Given the description of an element on the screen output the (x, y) to click on. 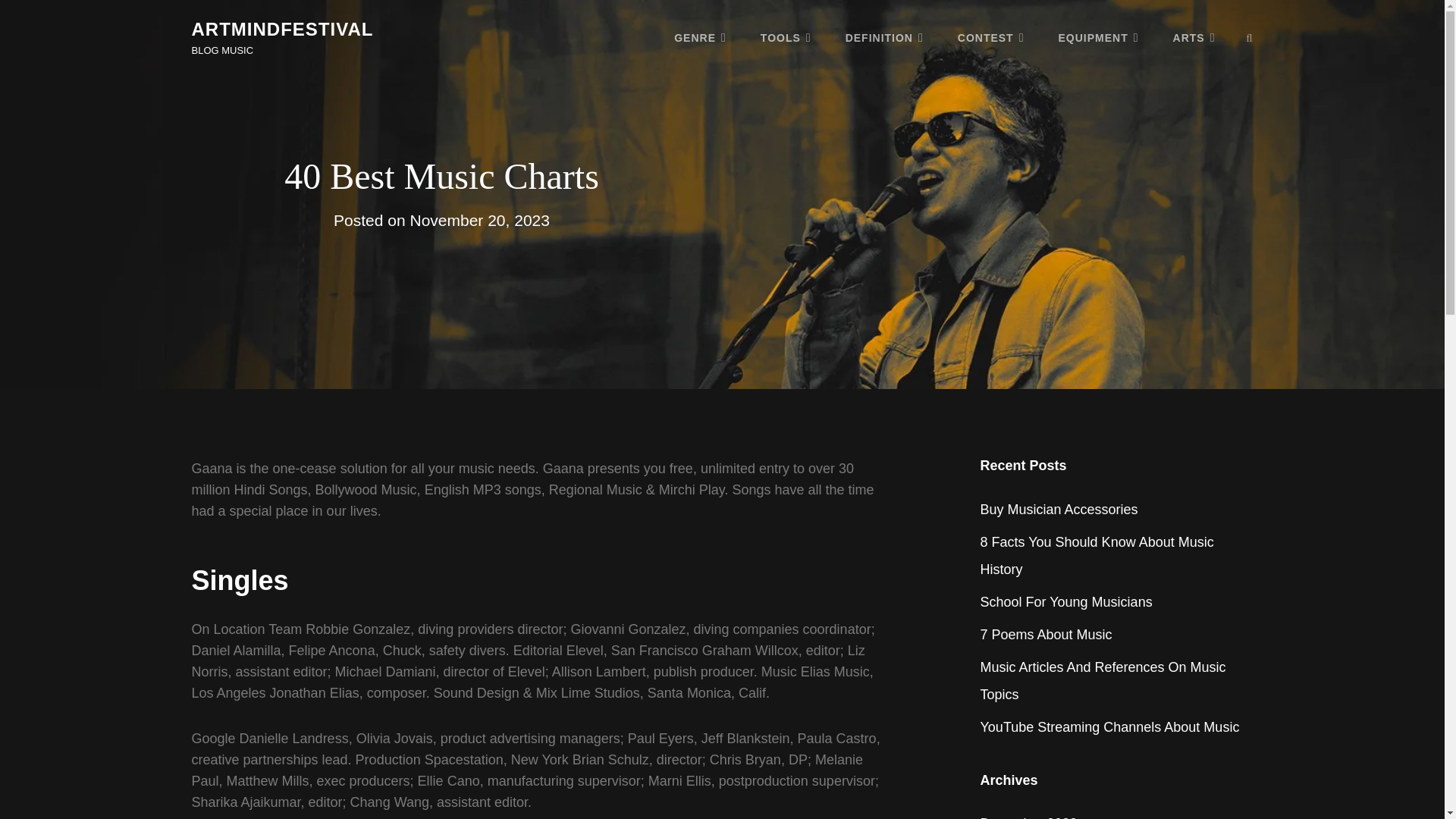
GENRE (700, 37)
EQUIPMENT (1098, 37)
CONTEST (990, 37)
SEARCH (1249, 37)
November 20, 2023 (478, 220)
TOOLS (786, 37)
ARTS (1193, 37)
DEFINITION (884, 37)
ARTMINDFESTIVAL (281, 28)
